Given the description of an element on the screen output the (x, y) to click on. 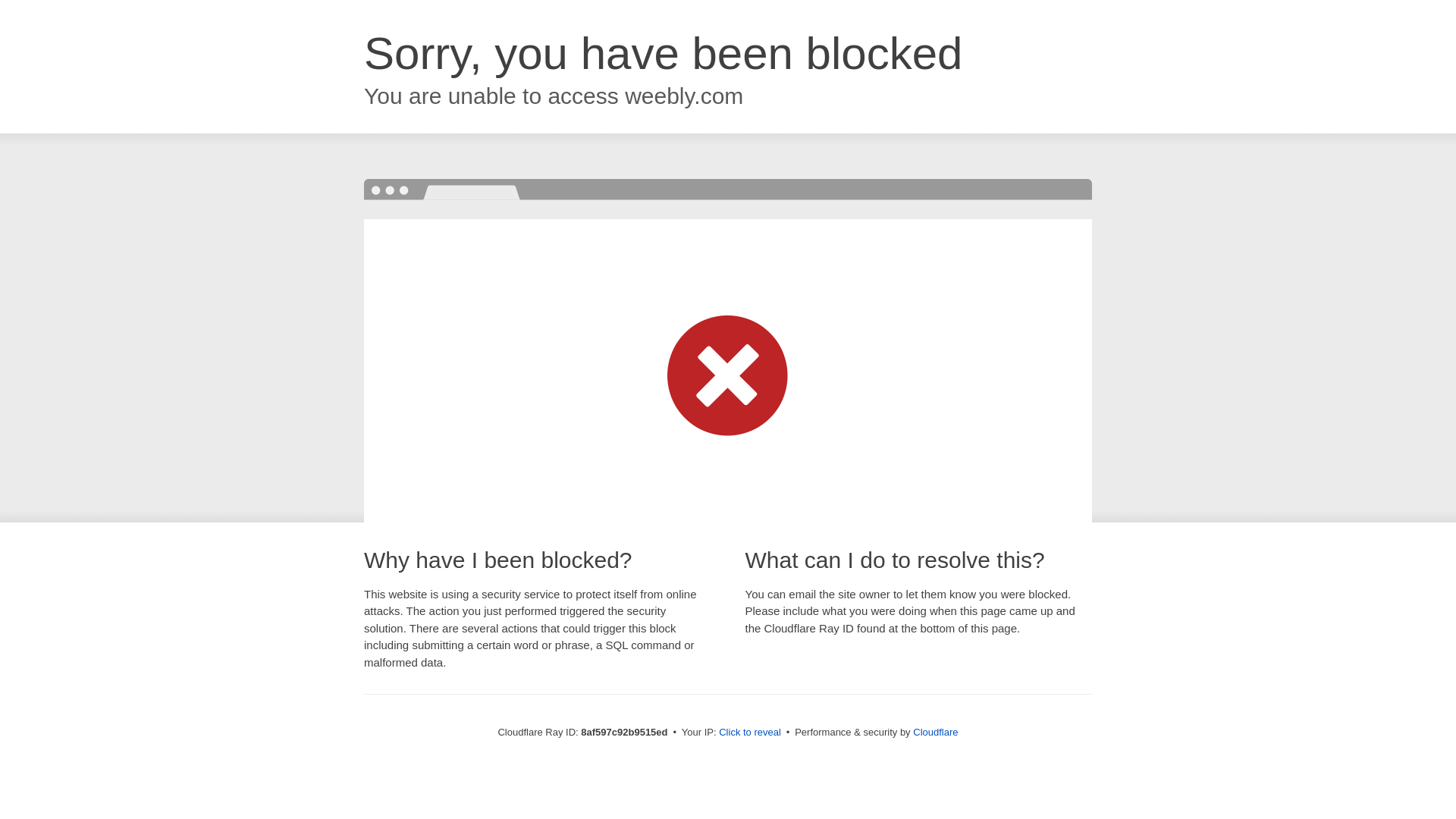
Cloudflare (935, 731)
Click to reveal (749, 732)
